Given the description of an element on the screen output the (x, y) to click on. 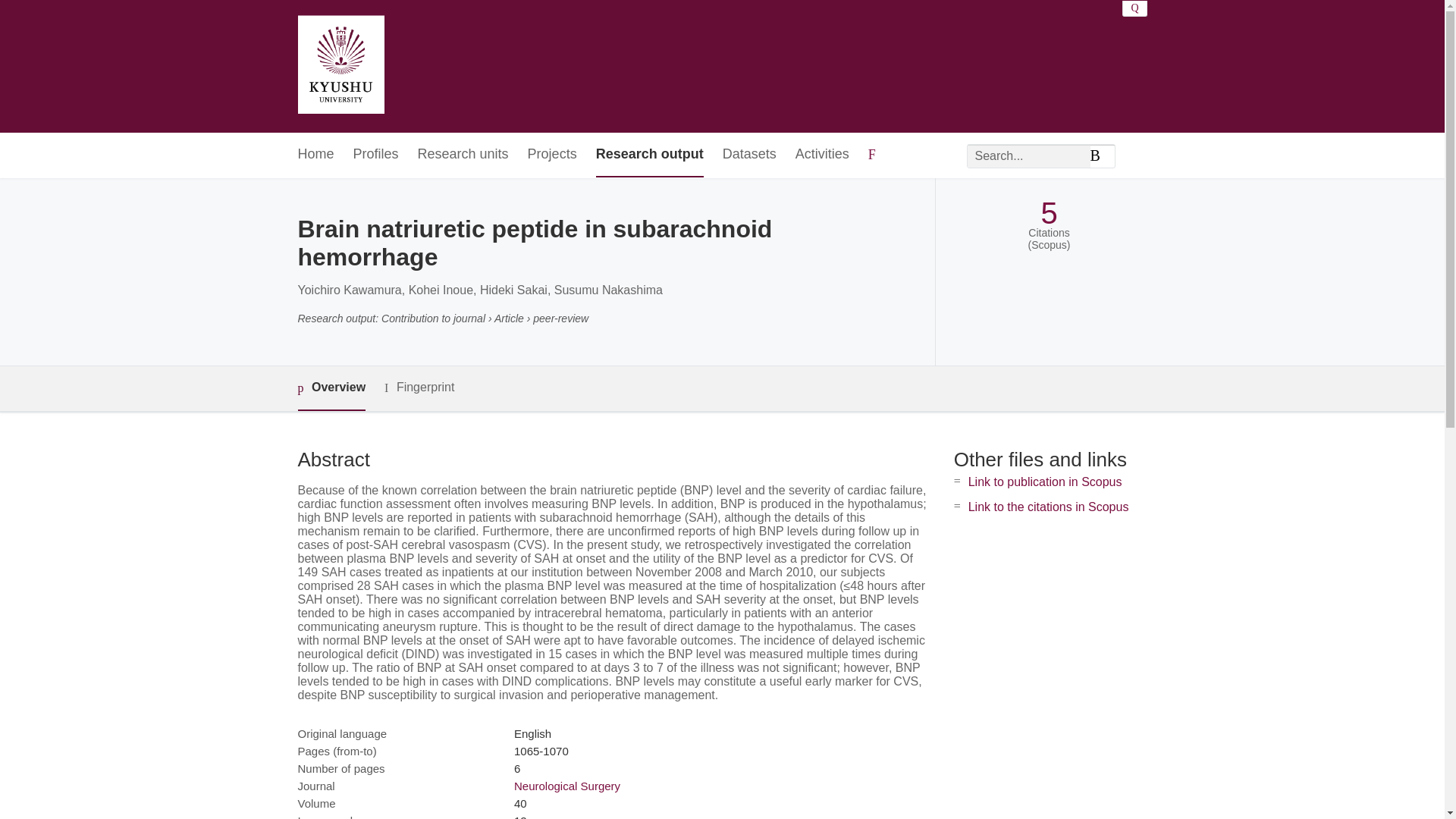
Research output (649, 154)
Fingerprint (419, 387)
Profiles (375, 154)
Link to the citations in Scopus (1048, 506)
Neurological Surgery (566, 785)
Datasets (749, 154)
Projects (551, 154)
Overview (331, 388)
Activities (821, 154)
